Given the description of an element on the screen output the (x, y) to click on. 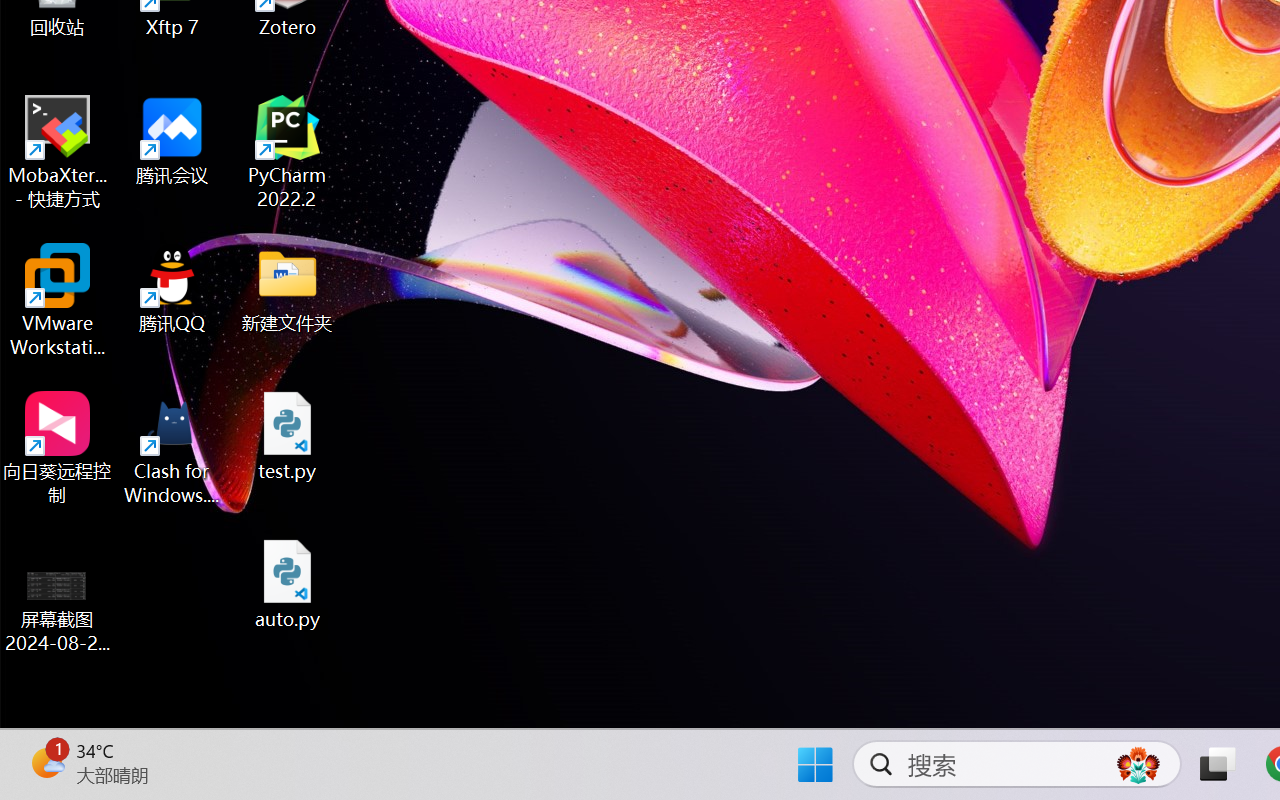
PyCharm 2022.2 (287, 152)
